Given the description of an element on the screen output the (x, y) to click on. 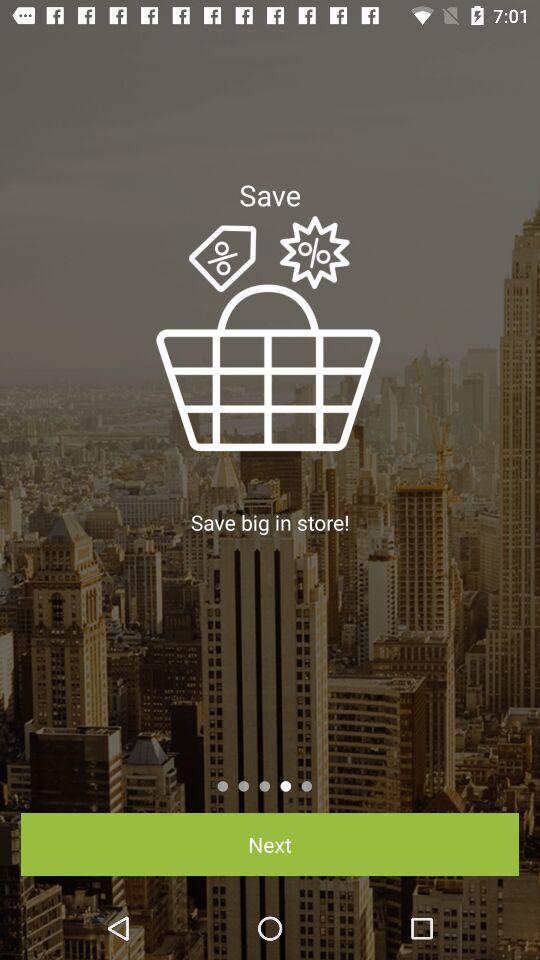
select next item (270, 844)
